Given the description of an element on the screen output the (x, y) to click on. 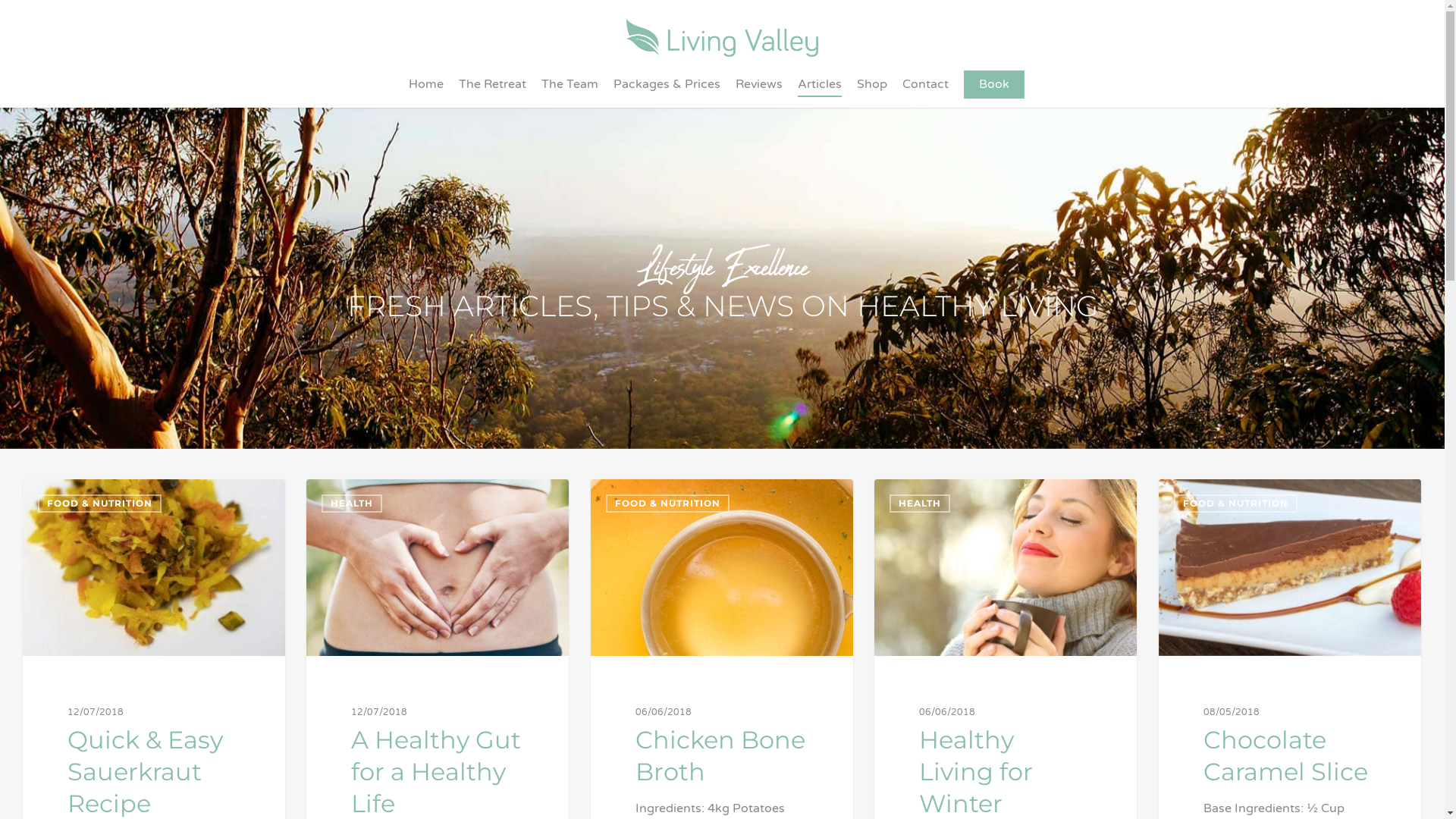
FOOD & NUTRITION Element type: text (99, 503)
Reviews Element type: text (758, 91)
HEALTH Element type: text (919, 503)
FOOD & NUTRITION Element type: text (667, 503)
Shop Element type: text (871, 91)
HEALTH Element type: text (351, 503)
Articles Element type: text (819, 91)
Packages & Prices Element type: text (666, 91)
Home Element type: text (425, 91)
FOOD & NUTRITION Element type: text (1235, 503)
The Team Element type: text (569, 91)
Contact Element type: text (925, 91)
The Retreat Element type: text (492, 91)
Book Element type: text (993, 91)
